Given the description of an element on the screen output the (x, y) to click on. 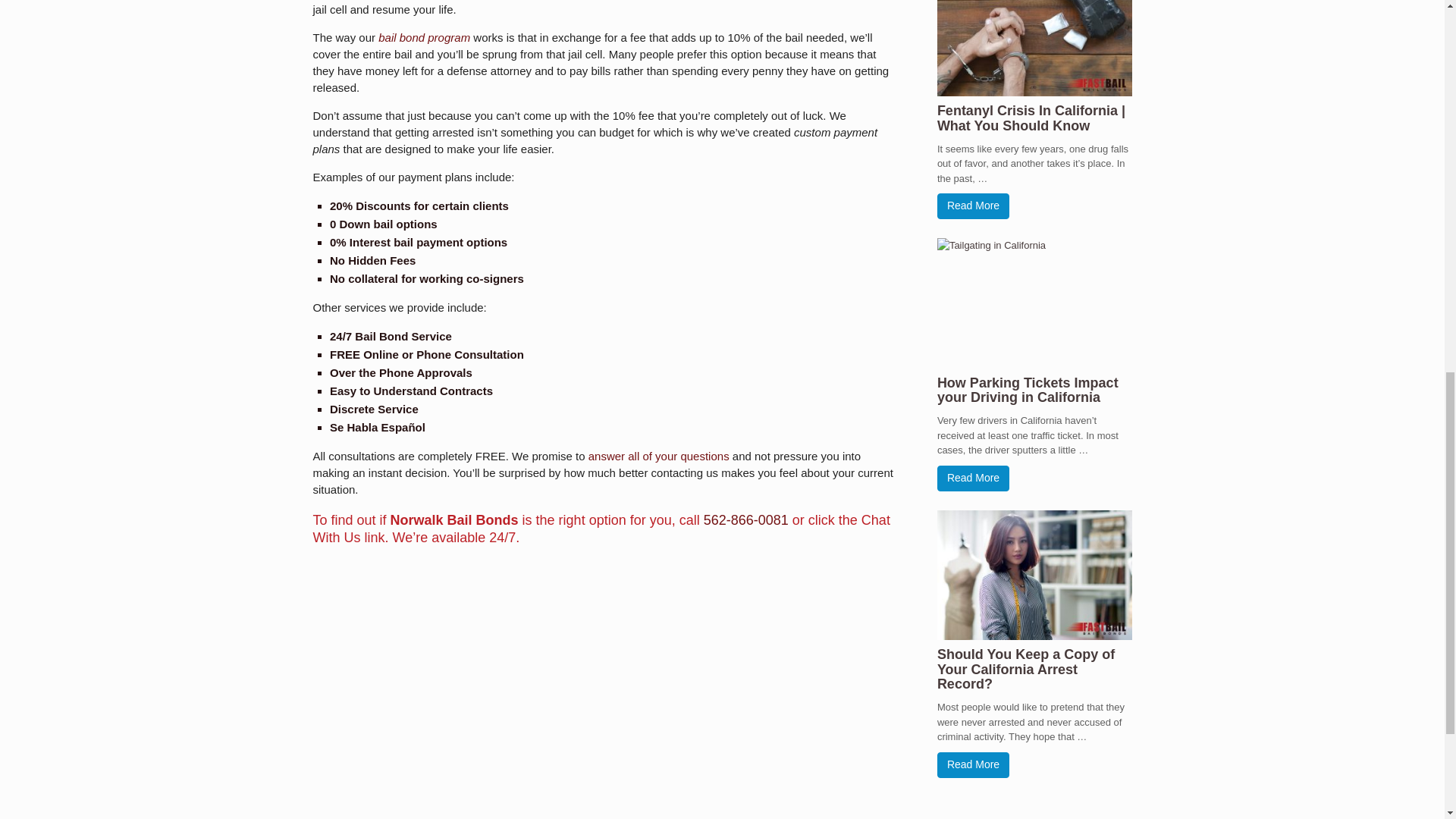
Read More (973, 478)
Read More (973, 765)
Should You Keep a Copy of Your California Arrest Record? (1026, 669)
answer all of your questions (658, 455)
Read More (973, 206)
562-866-0081 (746, 519)
bail bond program (424, 37)
How Parking Tickets Impact your Driving in California (1027, 390)
About Our Online Bail Bonds Program (424, 37)
